Given the description of an element on the screen output the (x, y) to click on. 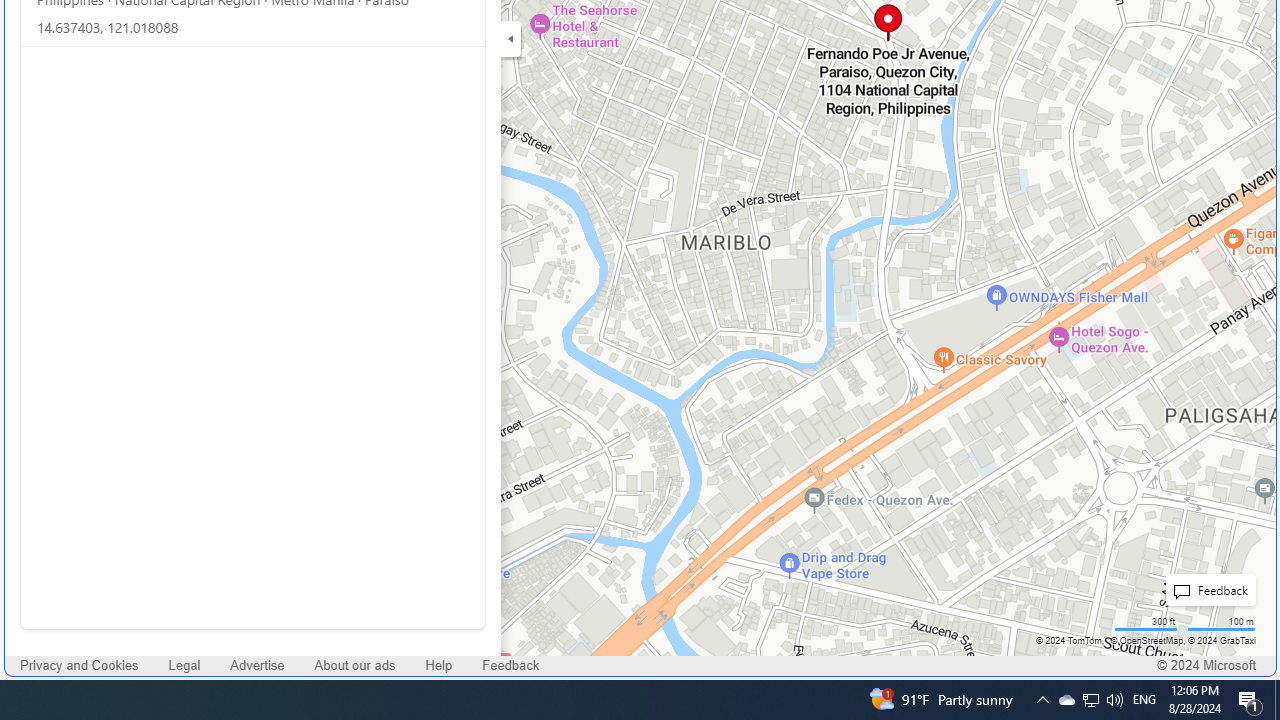
Help (438, 665)
Legal (183, 665)
Expand/Collapse Cards (510, 38)
Help (438, 665)
Advertise (257, 665)
Privacy and Cookies (79, 665)
Privacy and Cookies (79, 665)
Legal (184, 665)
About our ads (354, 665)
About our ads (354, 665)
Advertise (257, 665)
